Given the description of an element on the screen output the (x, y) to click on. 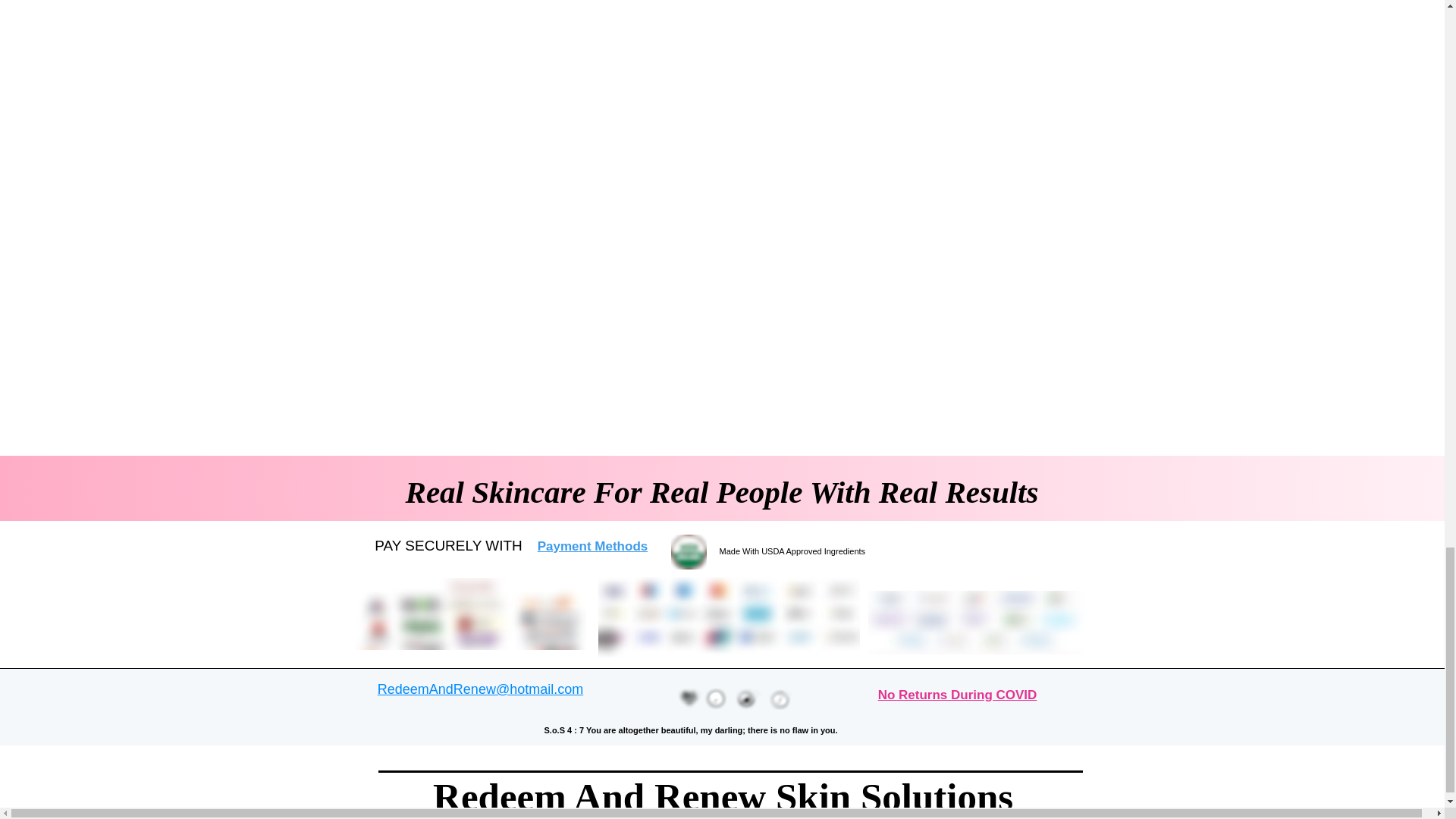
No Returns During COVID (956, 694)
Payment Methods (592, 545)
Redeem And Renew Skin Solutions  (727, 796)
